Given the description of an element on the screen output the (x, y) to click on. 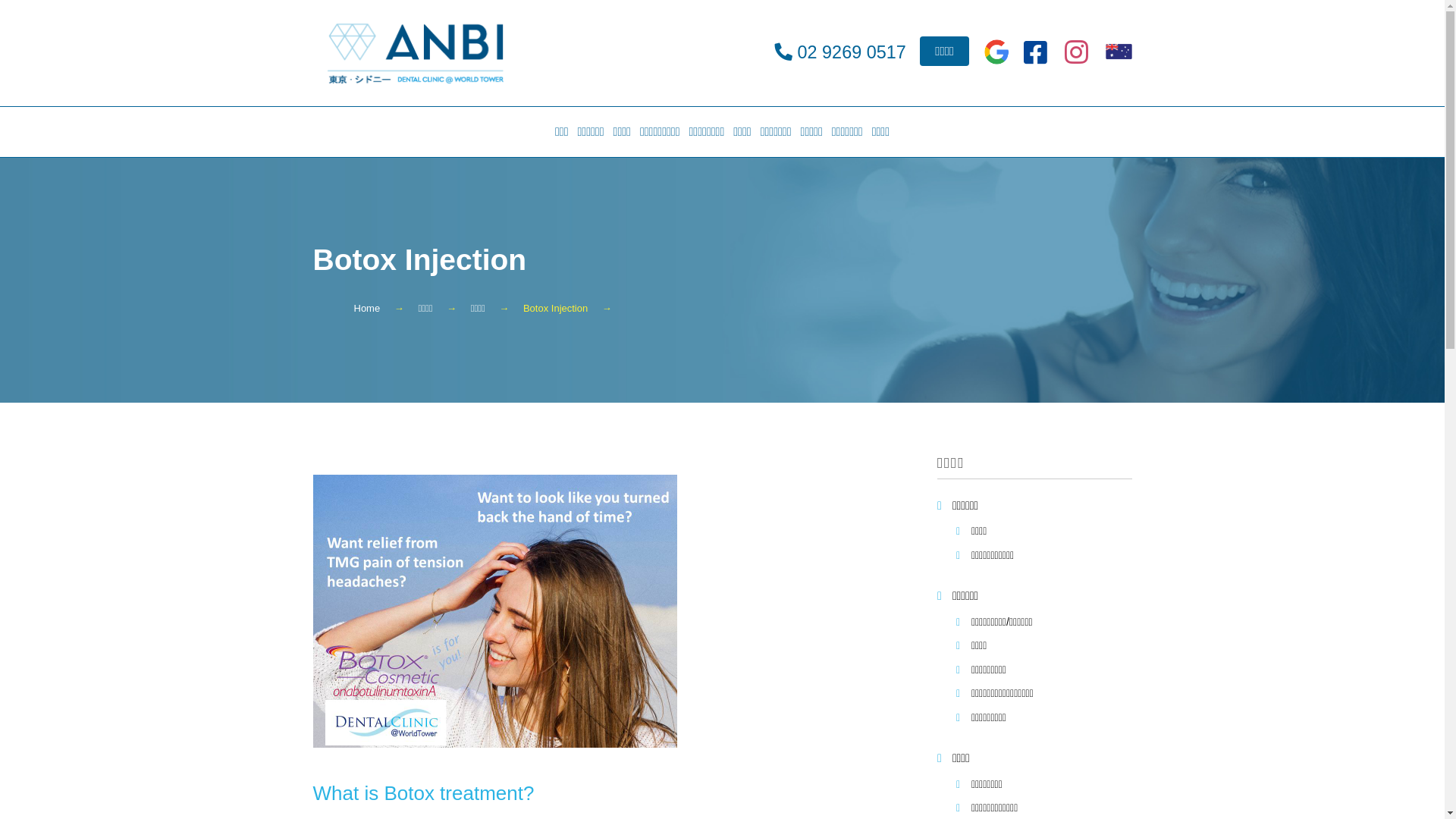
Best Dentist Element type: hover (414, 52)
Botox Injection Element type: text (555, 308)
Home Element type: text (366, 308)
02 9269 0517 Element type: text (851, 52)
